Given the description of an element on the screen output the (x, y) to click on. 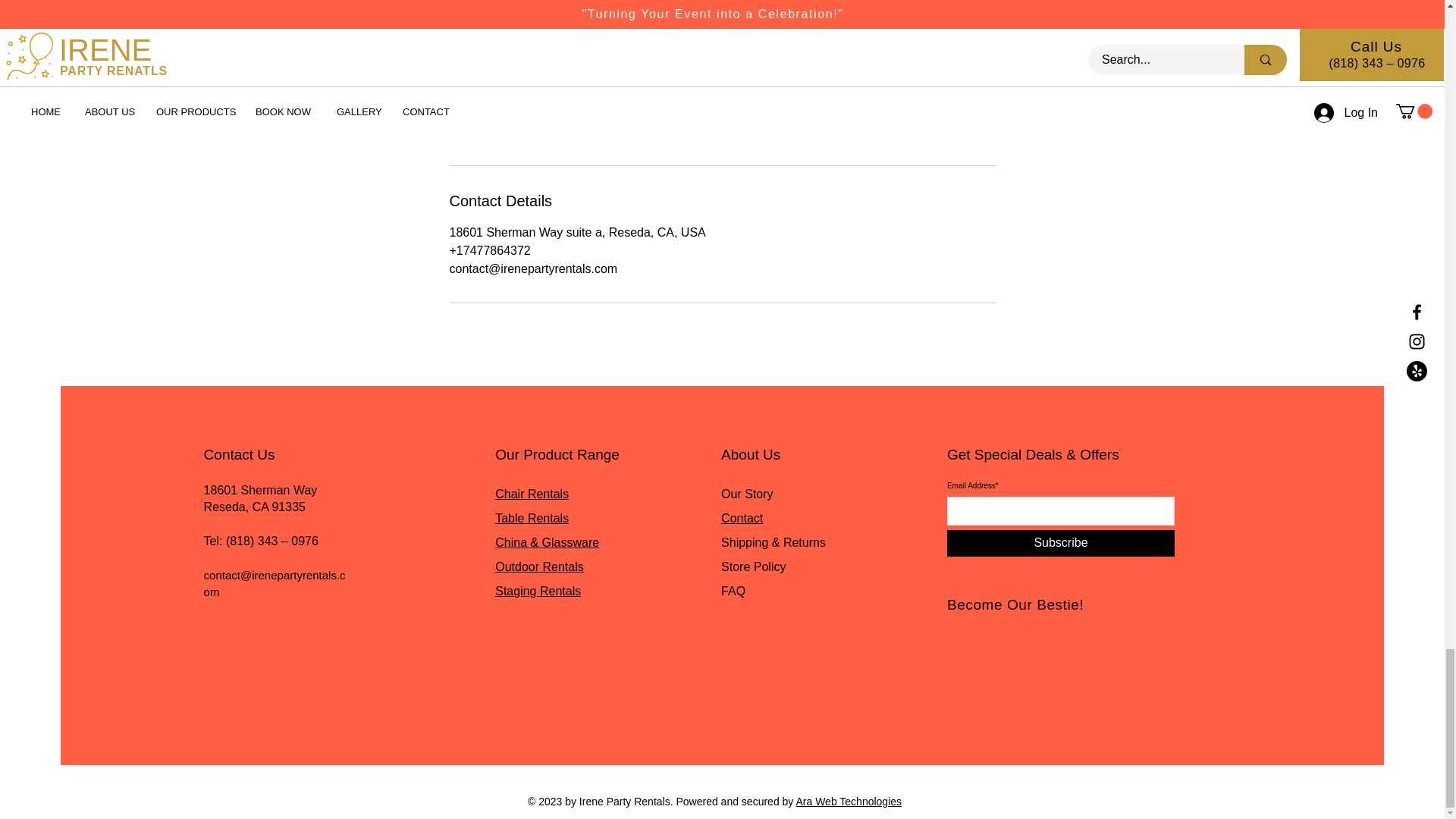
Subscribe (1060, 542)
FAQ (732, 590)
Ara Web Technologies (847, 801)
Chair Rentals (532, 493)
Our Story (746, 493)
Store Policy (753, 566)
Contact (741, 517)
